Given the description of an element on the screen output the (x, y) to click on. 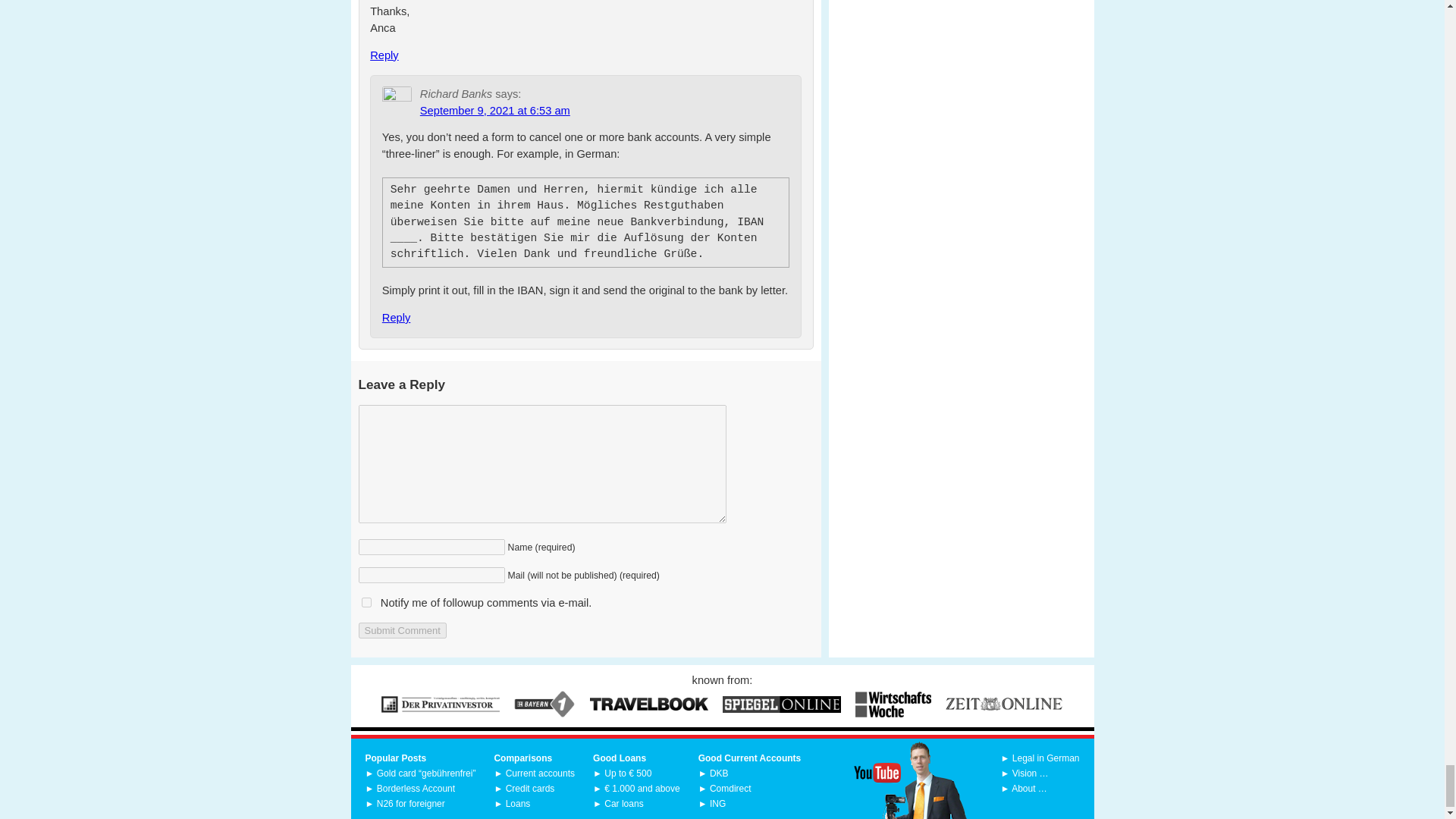
Submit Comment (401, 630)
yes (366, 602)
